Given the description of an element on the screen output the (x, y) to click on. 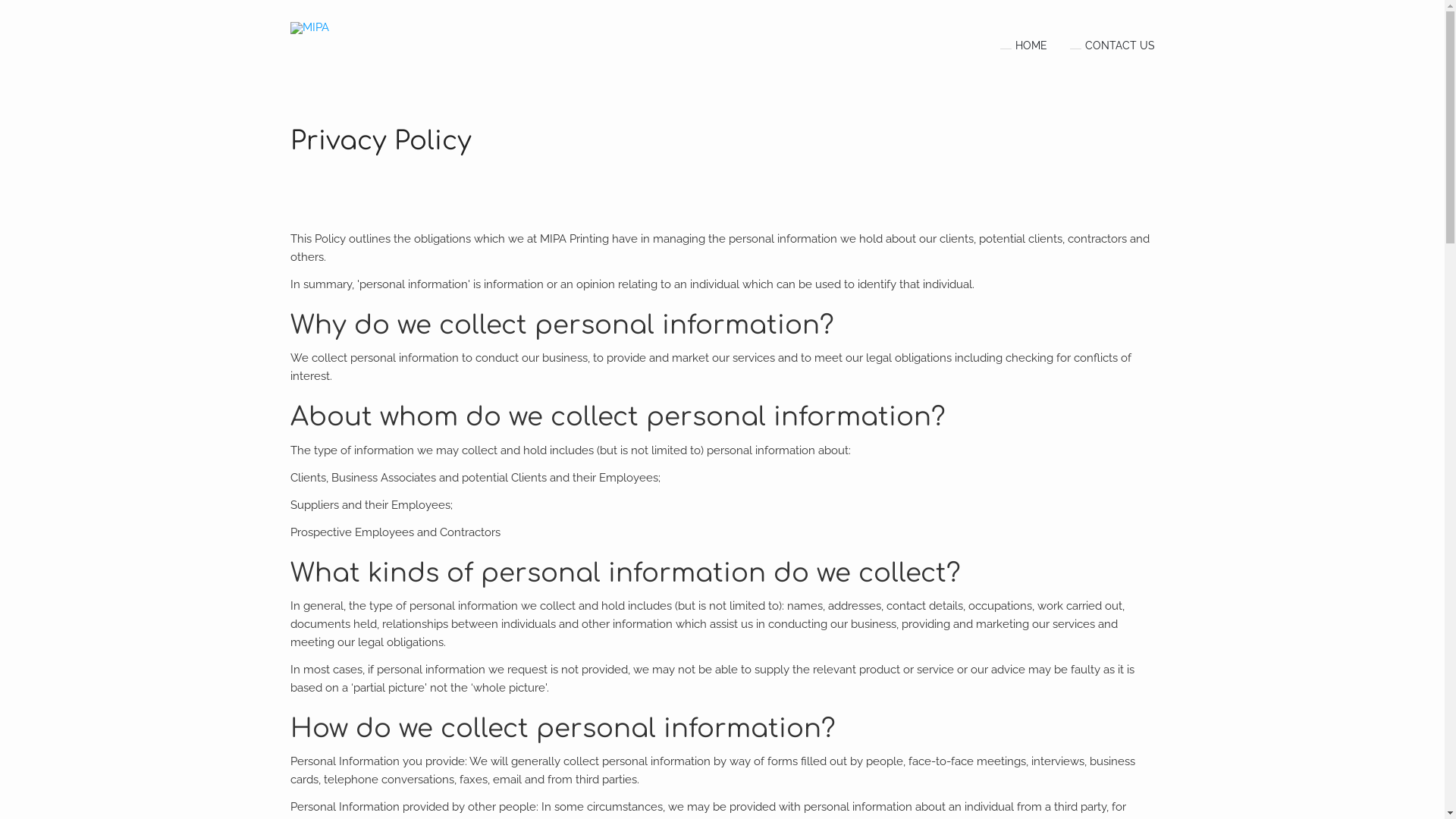
MIPA Element type: hover (308, 27)
CONTACT US Element type: text (1100, 45)
HOME Element type: text (1011, 45)
Privacy Policy Element type: text (379, 140)
